Given the description of an element on the screen output the (x, y) to click on. 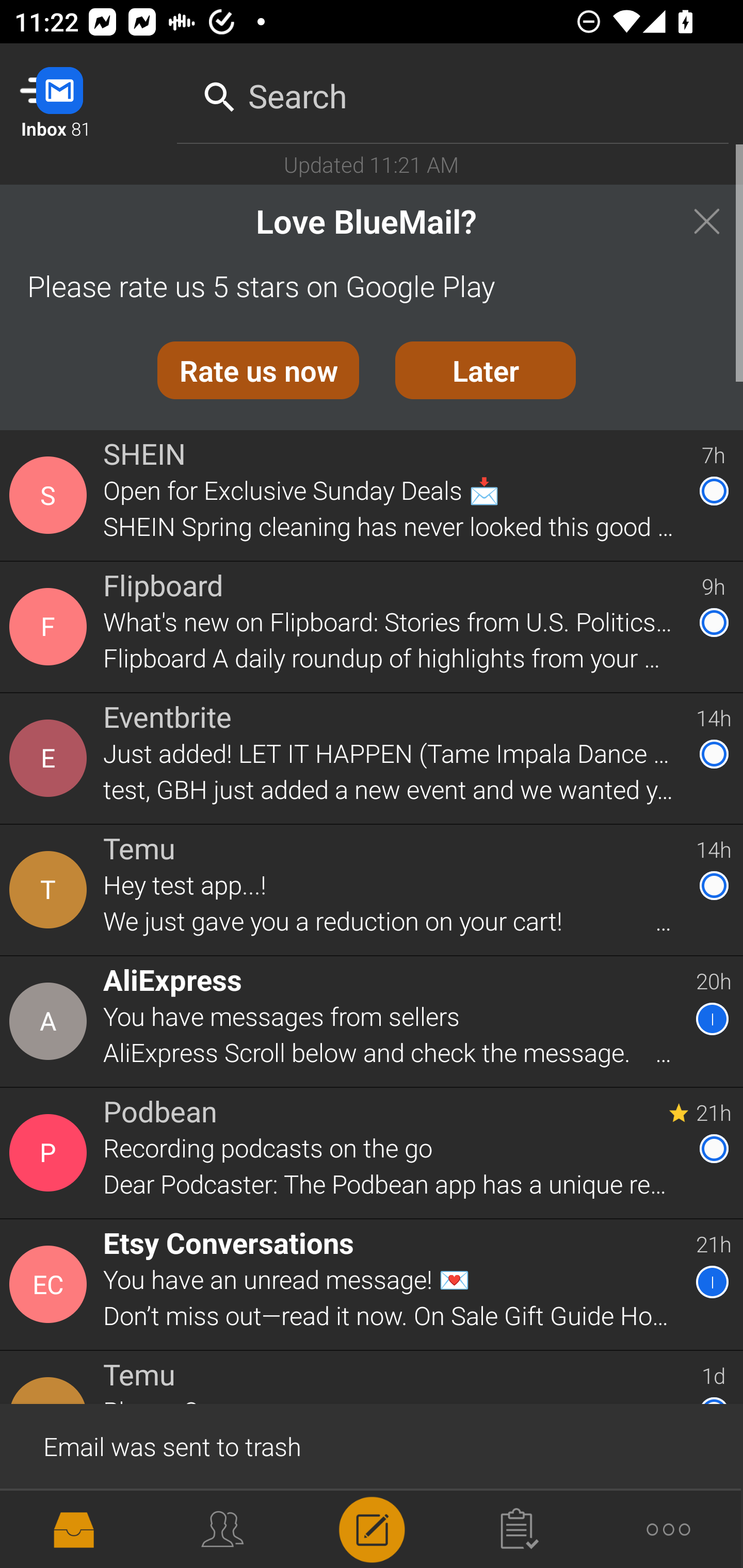
Navigate up (81, 93)
   Search (452, 92)
Updated 11:21 AM (371, 164)
Rate us now (257, 370)
Later (485, 370)
Contact Details (50, 495)
Contact Details (50, 626)
Contact Details (50, 758)
Contact Details (50, 889)
Contact Details (50, 1021)
Contact Details (50, 1153)
Contact Details (50, 1284)
Email was sent to trash (371, 1445)
Contact Details (50, 1524)
Compose (371, 1528)
